Given the description of an element on the screen output the (x, y) to click on. 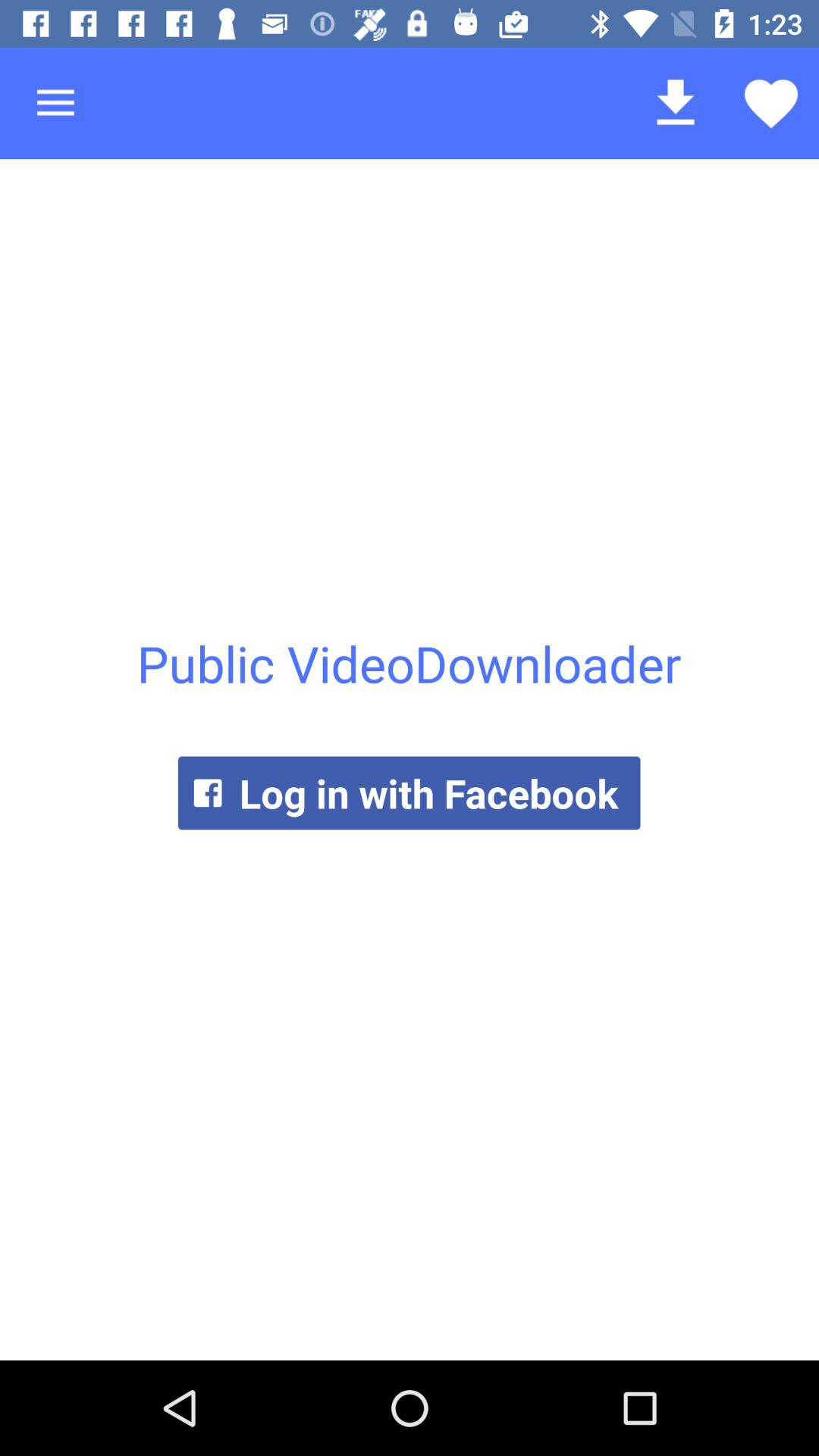
launch the icon above the public videodownloader item (771, 103)
